Given the description of an element on the screen output the (x, y) to click on. 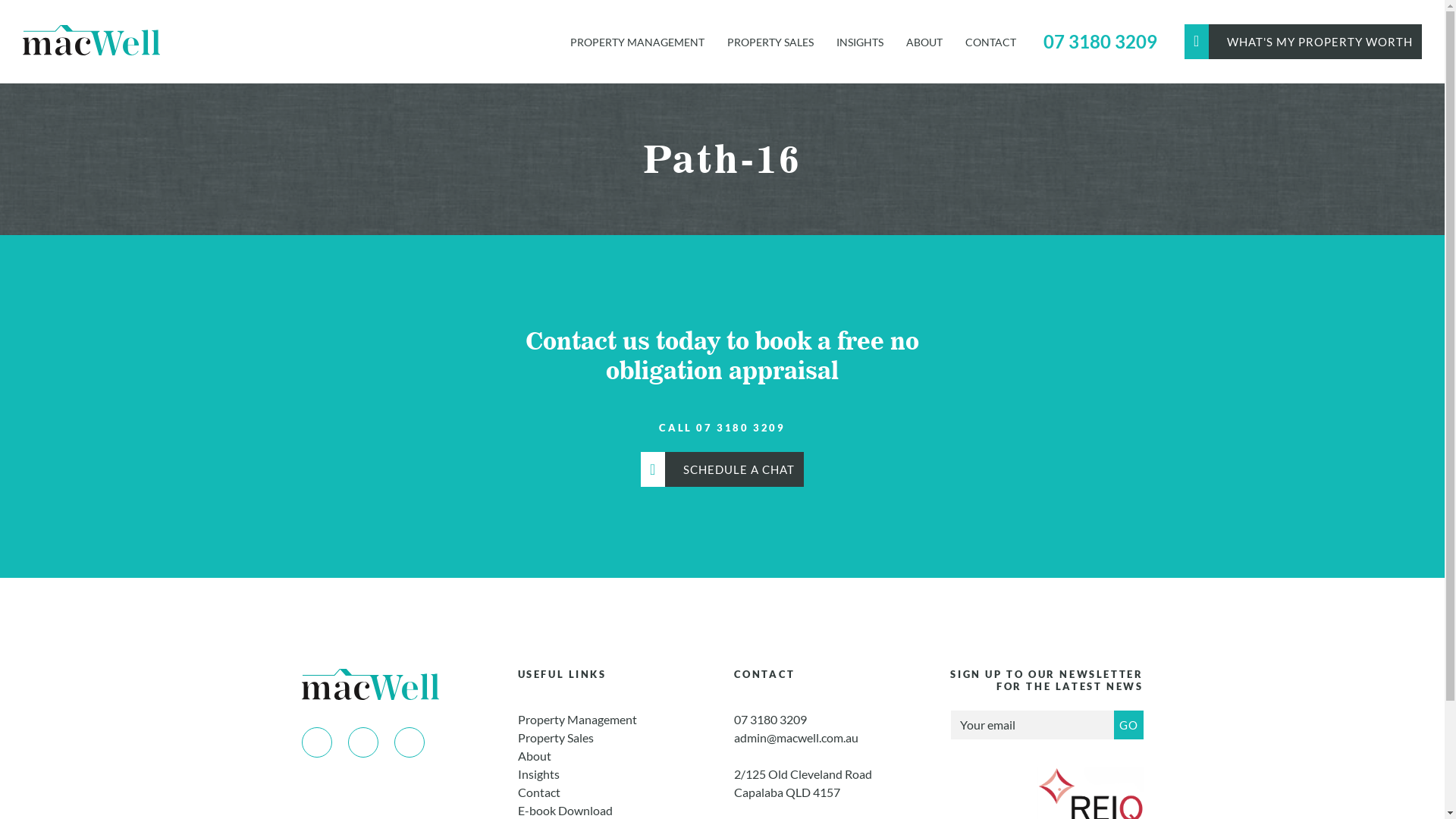
SCHEDULE A CHAT Element type: text (721, 468)
Contact Element type: text (538, 791)
Property Sales Element type: text (555, 737)
INSIGHTS Element type: text (859, 40)
PROPERTY MANAGEMENT Element type: text (637, 40)
About Element type: text (533, 755)
admin@macwell.com.au Element type: text (796, 737)
Instagram Element type: hover (362, 742)
Macwell Property Element type: hover (91, 39)
Linkedin Element type: hover (409, 742)
GO Element type: text (1127, 724)
Insights Element type: text (537, 773)
Skip to primary navigation Element type: text (0, 83)
CALL 07 3180 3209 Element type: text (721, 427)
E-book Download Element type: text (564, 810)
Property Management Element type: text (576, 719)
WHAT'S MY PROPERTY WORTH Element type: text (1302, 41)
07 3180 3209 Element type: text (1100, 41)
ABOUT Element type: text (924, 40)
PROPERTY SALES Element type: text (770, 40)
CONTACT Element type: text (990, 40)
Facebook Element type: hover (316, 742)
07 3180 3209 Element type: text (770, 719)
